Given the description of an element on the screen output the (x, y) to click on. 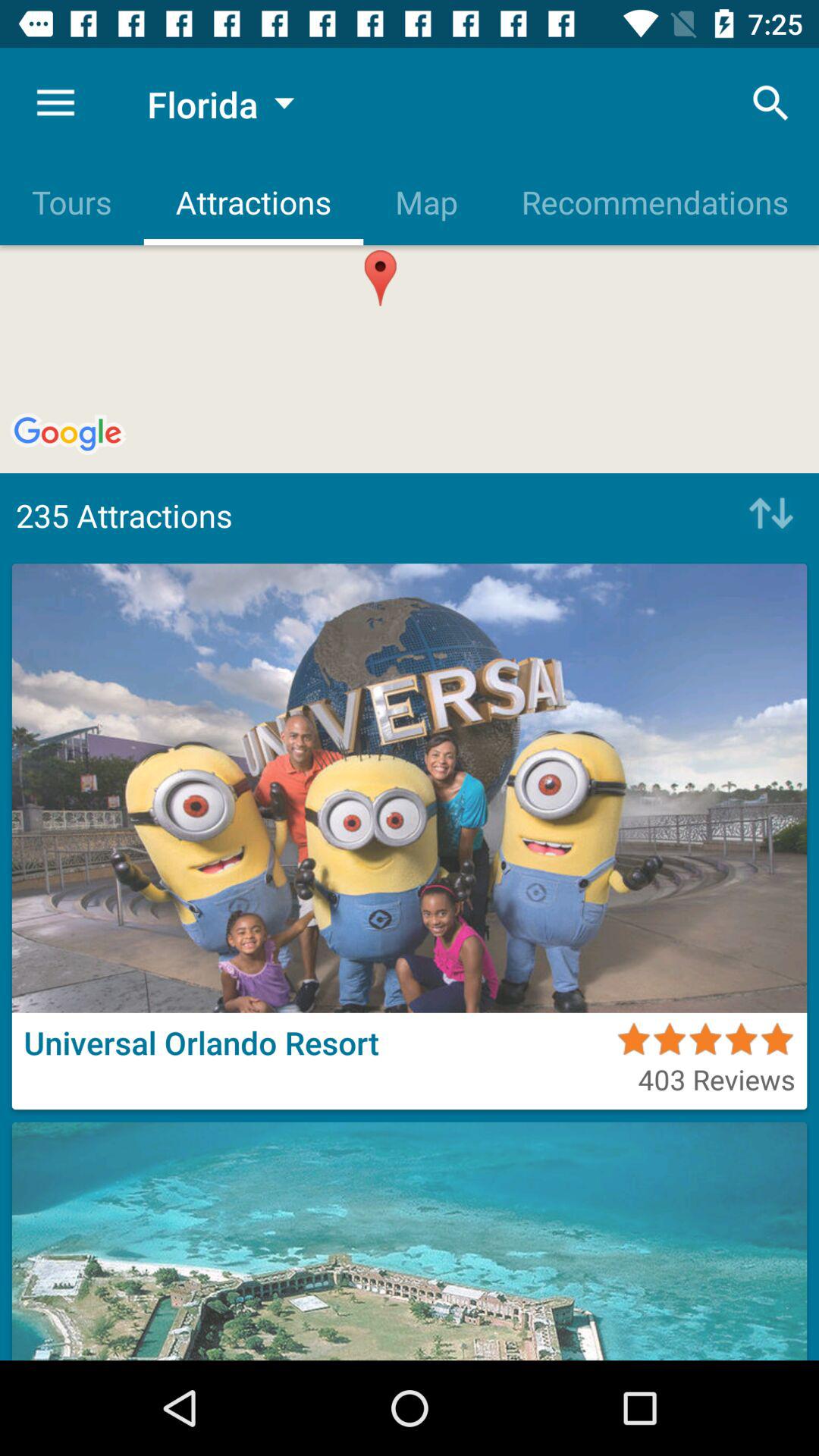
click icon next to the 235 attractions icon (767, 515)
